Given the description of an element on the screen output the (x, y) to click on. 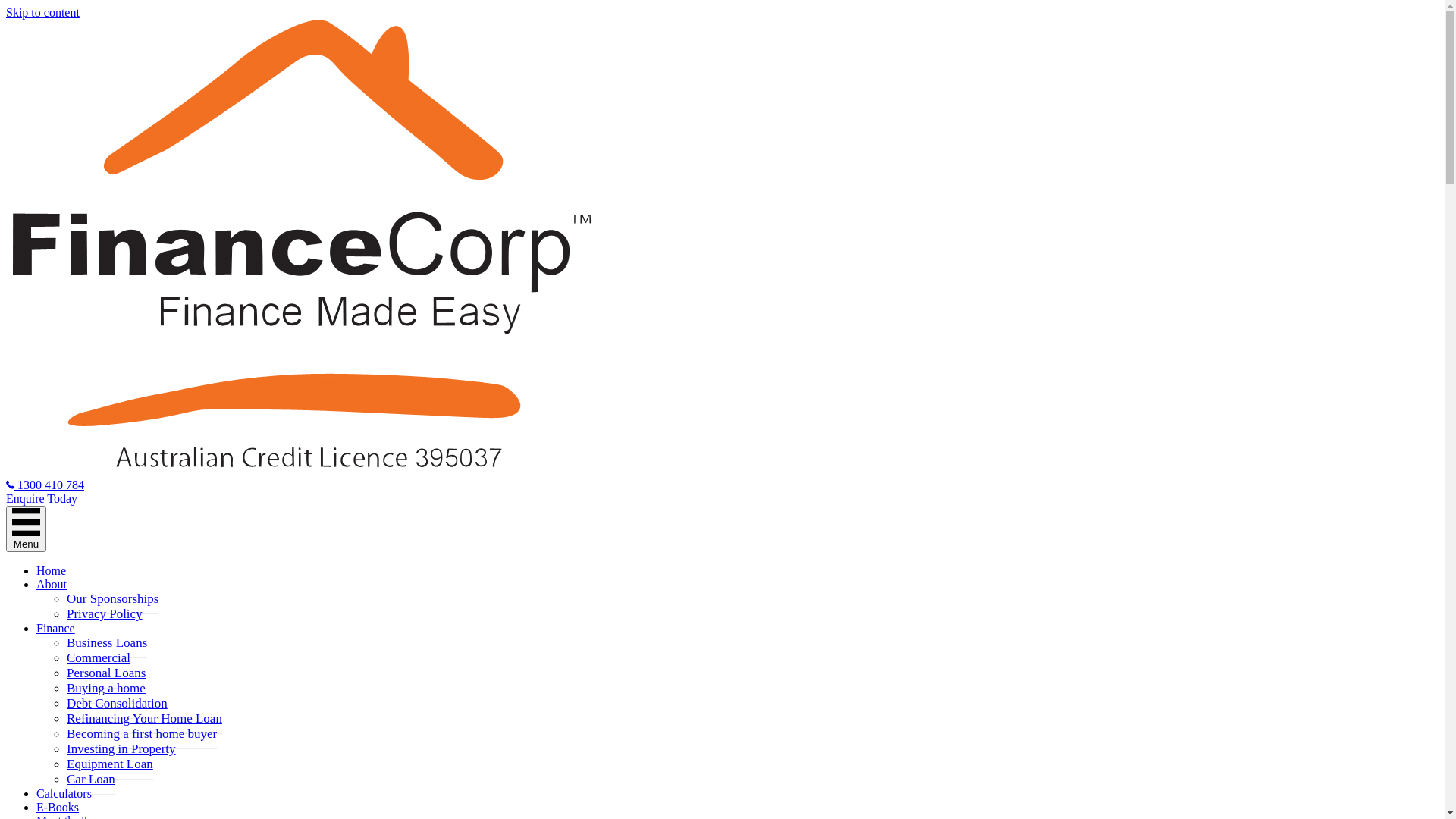
1300 410 784 Element type: text (45, 484)
Our Sponsorships Element type: text (112, 598)
Car Loan Element type: text (90, 779)
Menu Element type: text (26, 528)
Finance Element type: text (55, 627)
Equipment Loan Element type: text (109, 764)
Personal Loans Element type: text (105, 673)
Refinancing Your Home Loan Element type: text (144, 718)
Business Loans Element type: text (106, 642)
Buying a home Element type: text (105, 688)
Investing in Property Element type: text (120, 749)
Debt Consolidation Element type: text (116, 703)
Home Element type: text (50, 570)
About Element type: text (51, 583)
Privacy Policy Element type: text (104, 614)
Calculators Element type: text (63, 793)
Skip to content Element type: text (42, 12)
E-Books Element type: text (57, 806)
Becoming a first home buyer Element type: text (141, 733)
transparent FinanceCorp_Logo Element type: hover (299, 247)
Enquire Today Element type: text (41, 498)
Commercial Element type: text (98, 658)
